Given the description of an element on the screen output the (x, y) to click on. 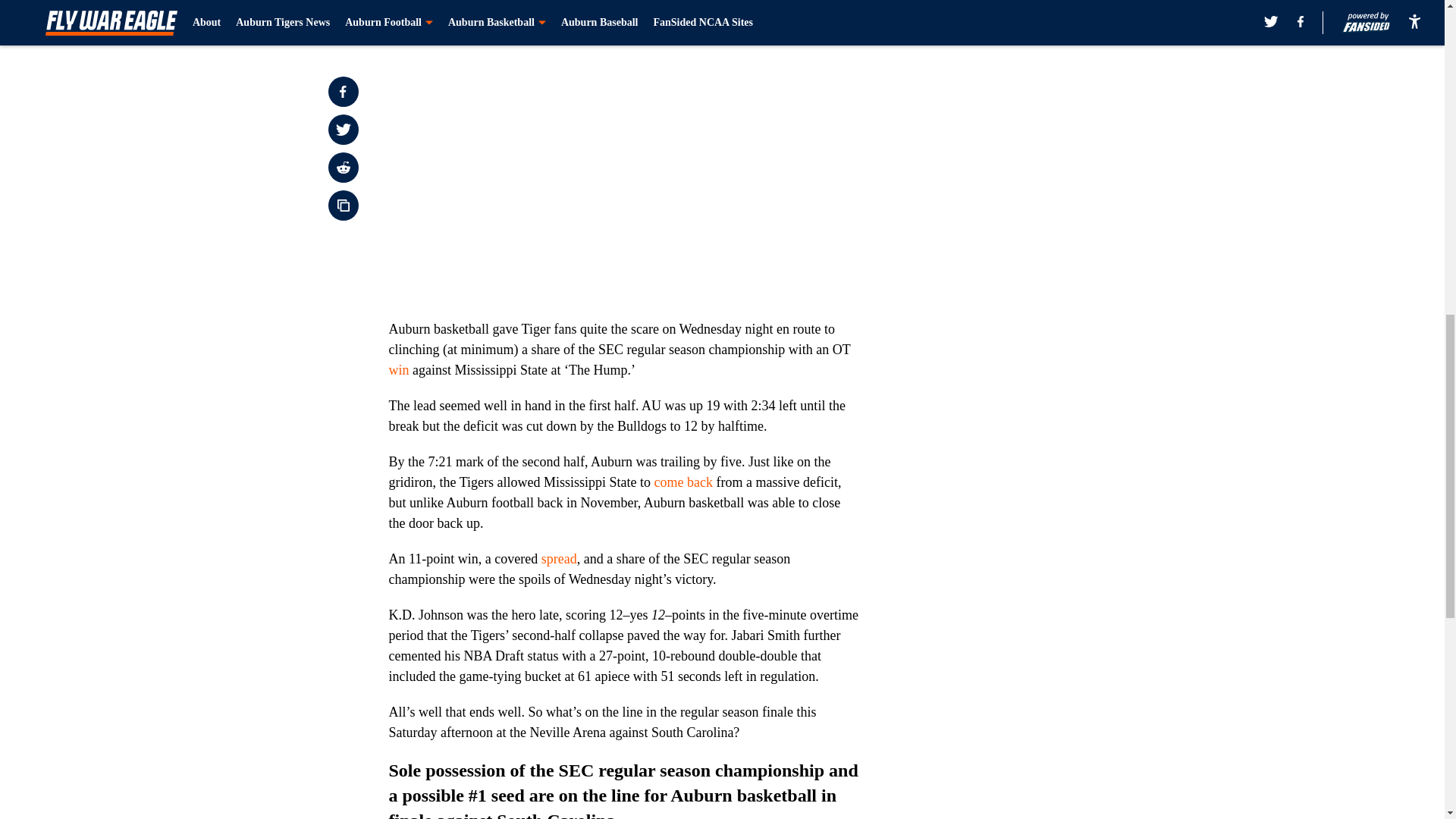
win (398, 369)
come back (683, 482)
spread (558, 558)
